Given the description of an element on the screen output the (x, y) to click on. 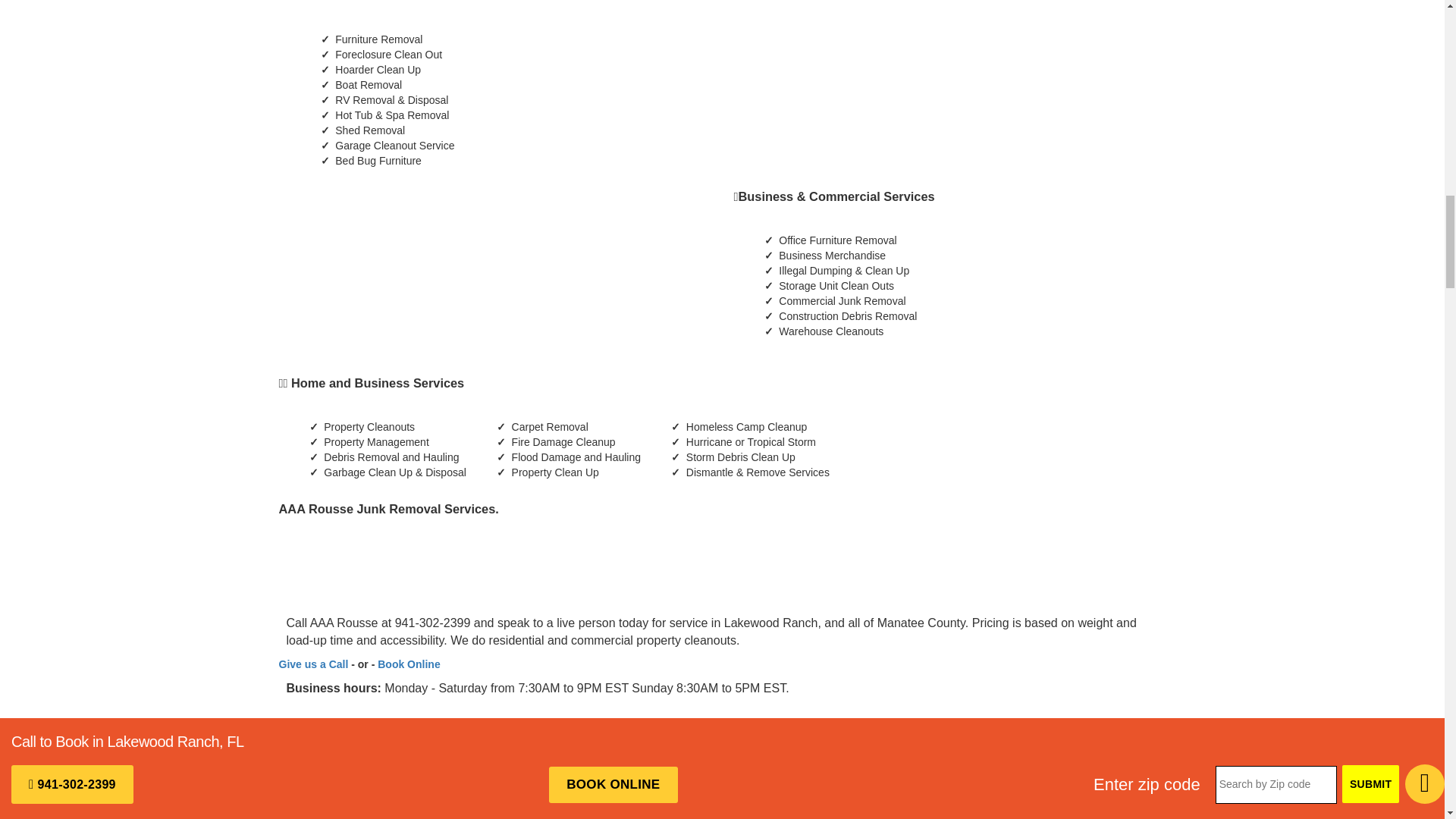
 Lakewood Ranch Cleanout Service (421, 261)
Give us a Call (314, 664)
 Lakewood Ranch Property Clean Up Service (865, 72)
Book Online (408, 664)
